Given the description of an element on the screen output the (x, y) to click on. 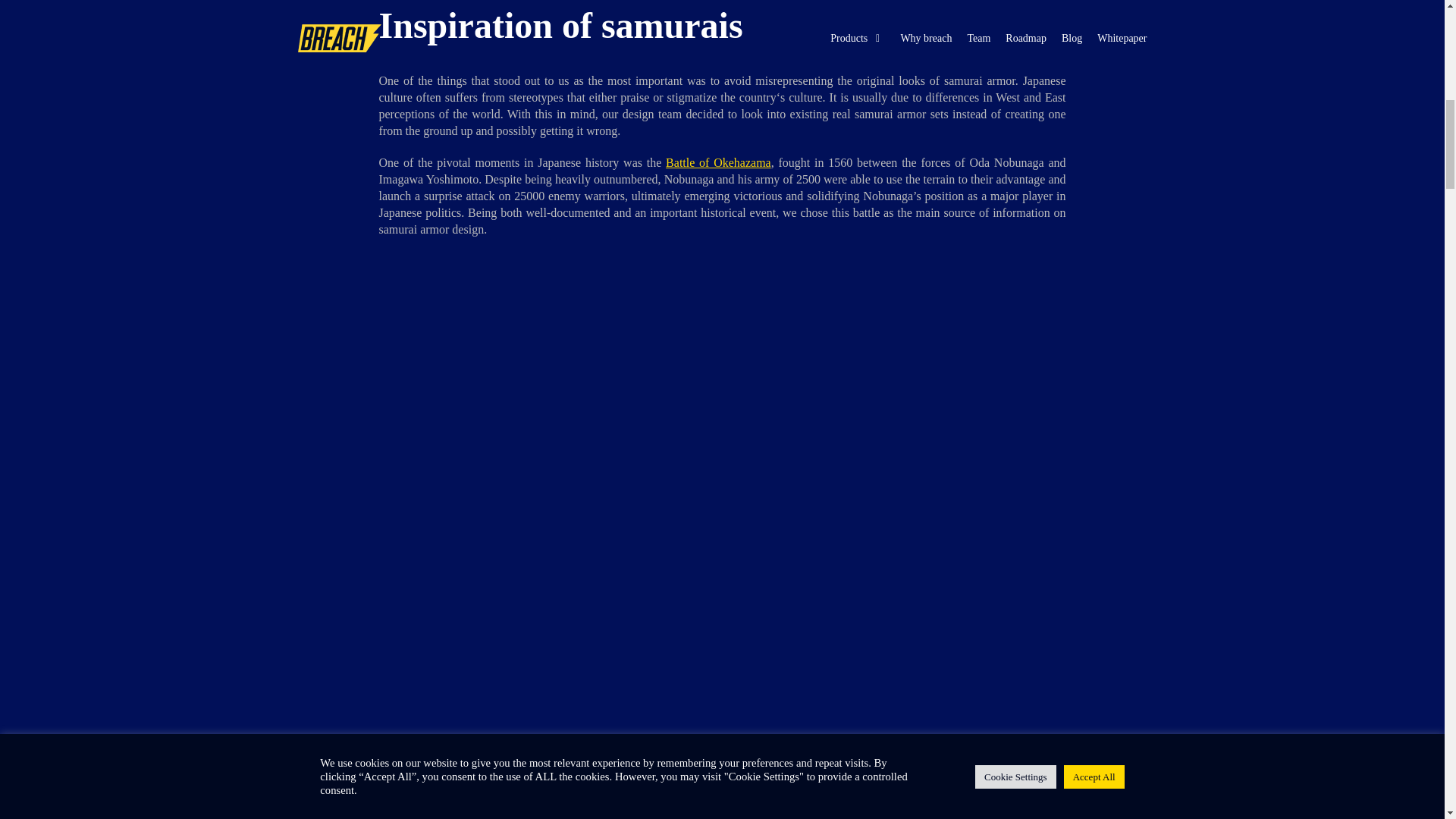
Battle of Okehazama (718, 162)
